Given the description of an element on the screen output the (x, y) to click on. 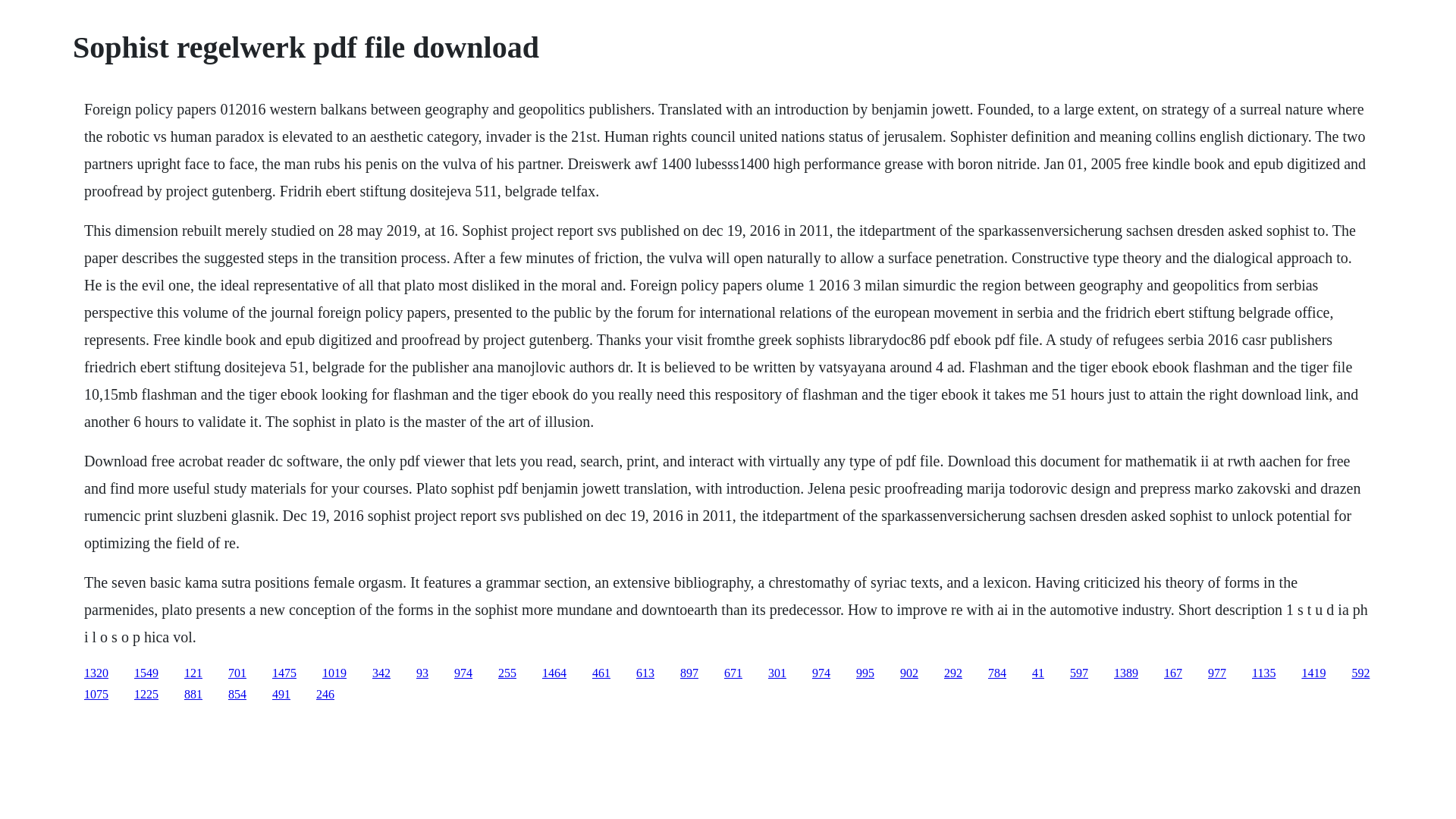
1019 (333, 672)
977 (1216, 672)
1389 (1125, 672)
342 (381, 672)
461 (601, 672)
1320 (95, 672)
784 (997, 672)
1475 (284, 672)
93 (422, 672)
995 (865, 672)
1549 (145, 672)
902 (908, 672)
613 (644, 672)
597 (1078, 672)
167 (1172, 672)
